Given the description of an element on the screen output the (x, y) to click on. 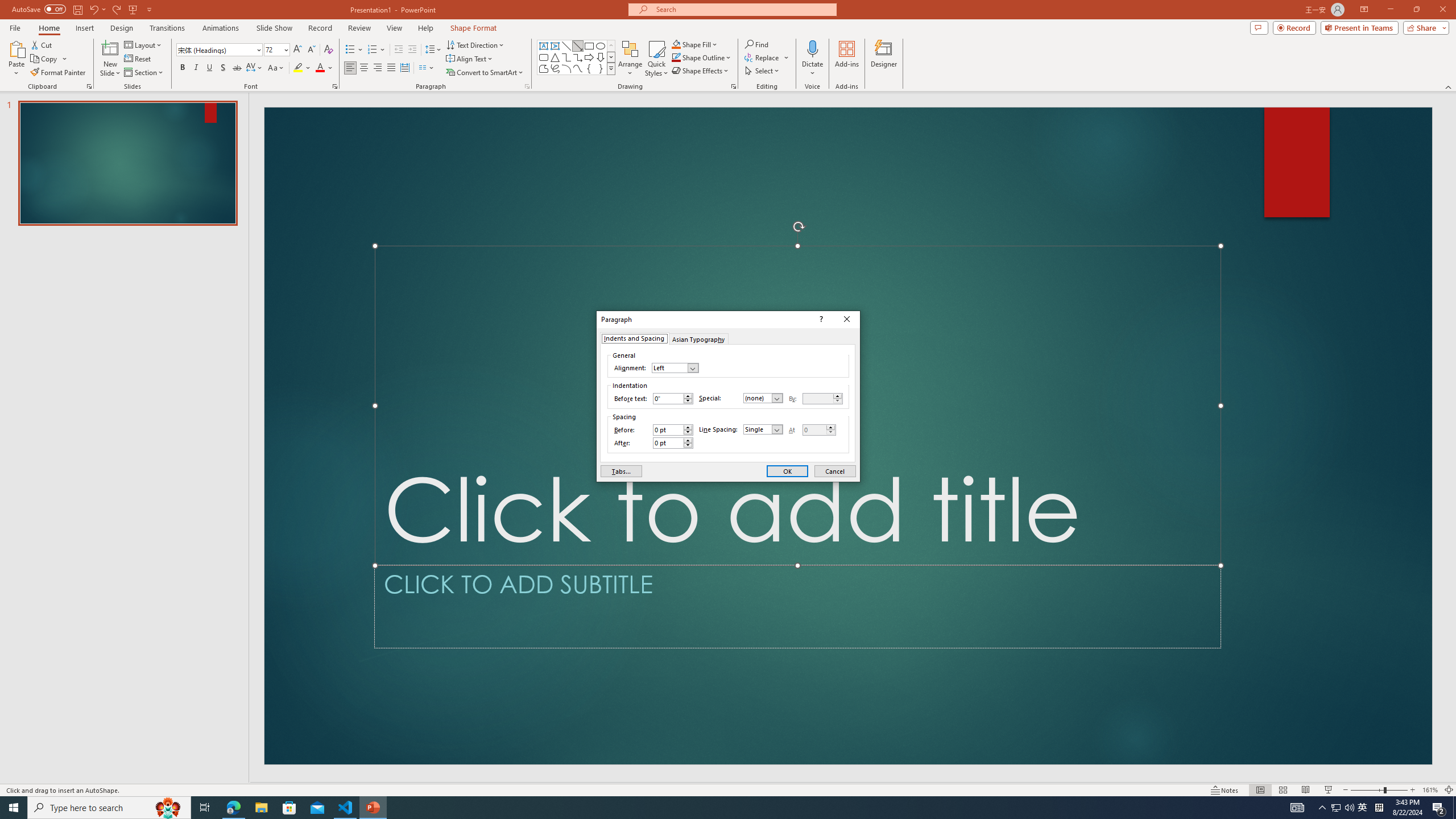
Tabs... (620, 470)
By (822, 398)
Zoom 161% (1430, 790)
